Given the description of an element on the screen output the (x, y) to click on. 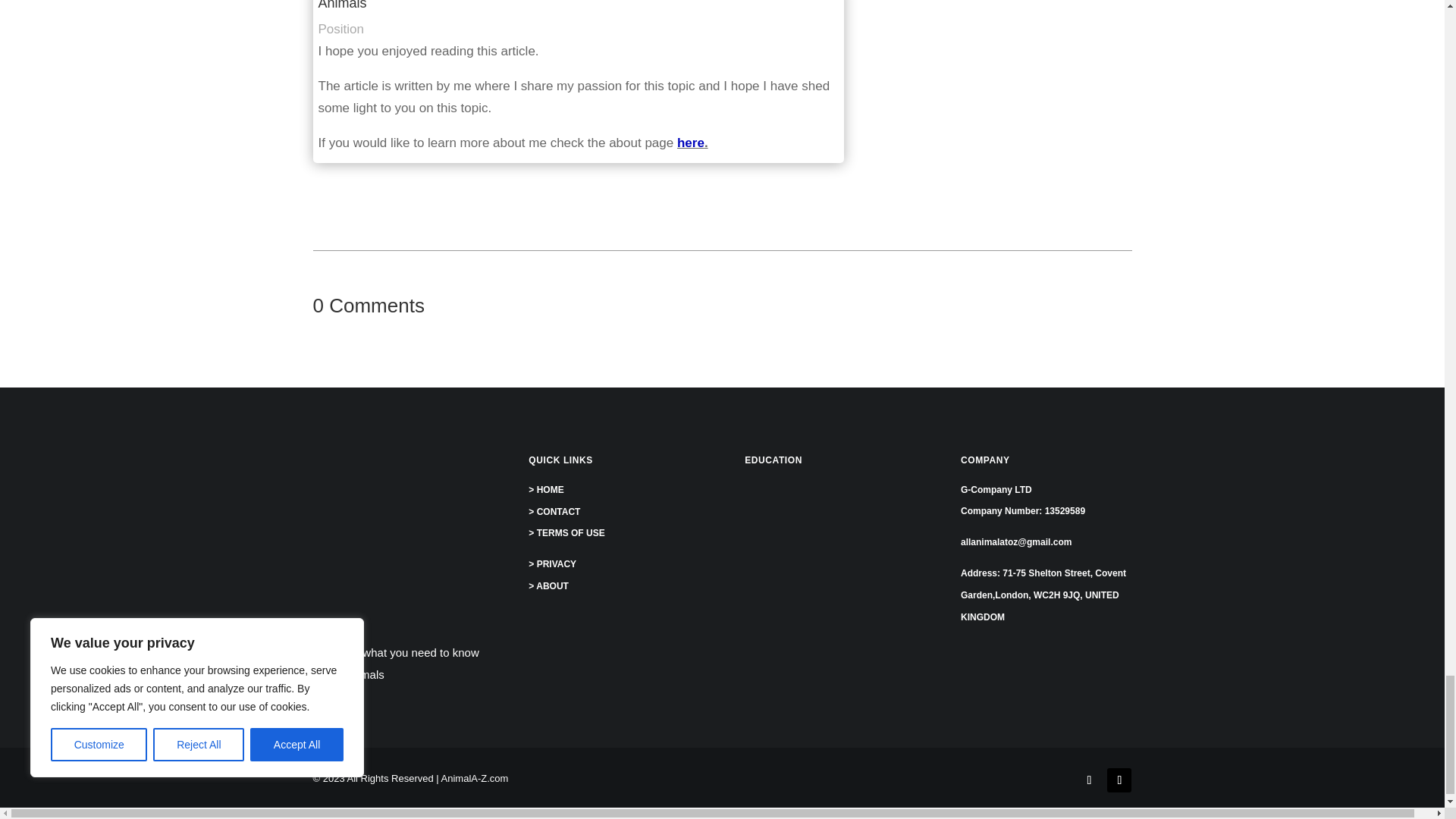
Follow on Facebook (1088, 780)
Follow on X (1118, 780)
